Given the description of an element on the screen output the (x, y) to click on. 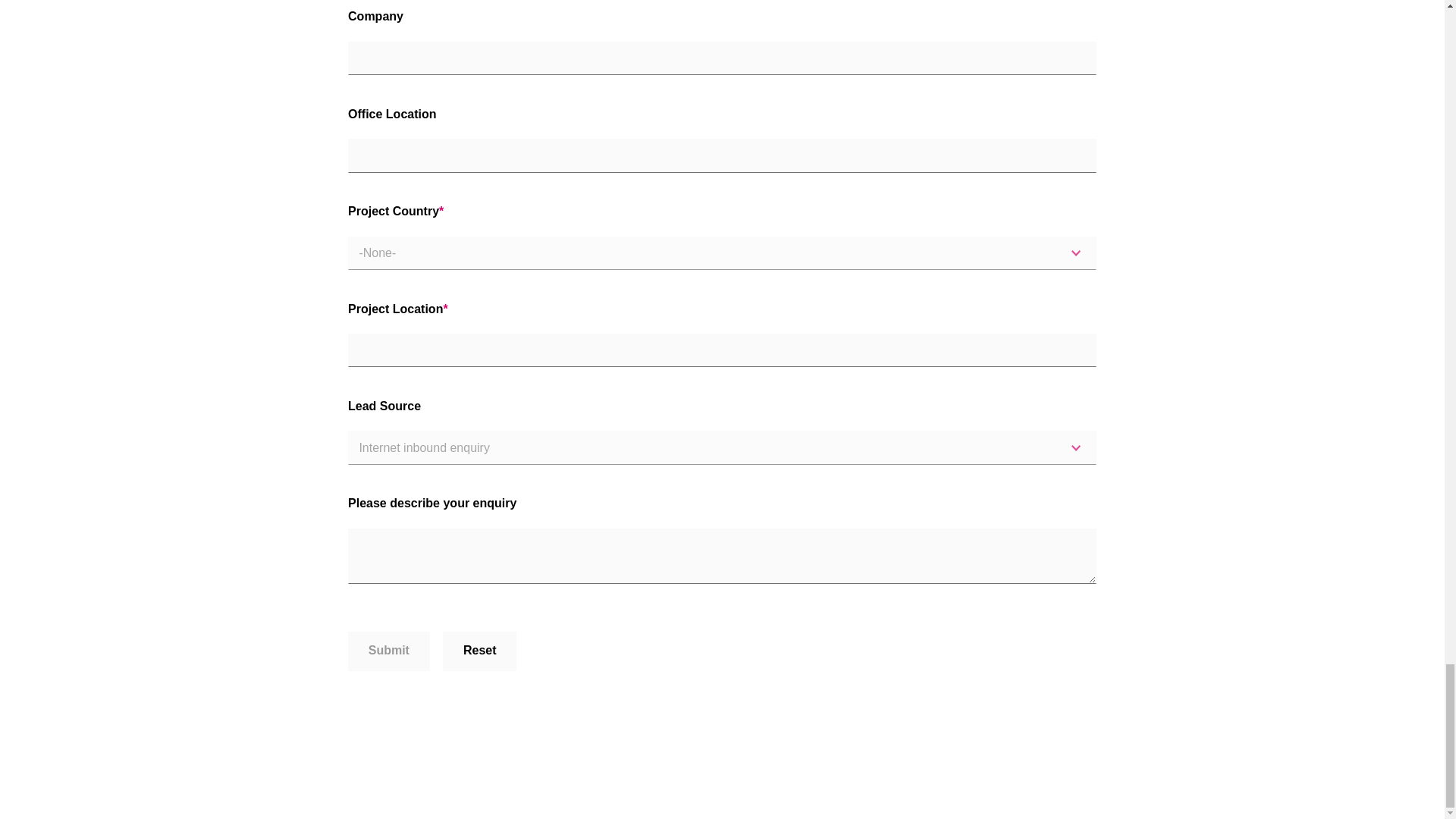
Submit (388, 650)
Reset (479, 650)
Reset (479, 650)
Submit (388, 650)
